Given the description of an element on the screen output the (x, y) to click on. 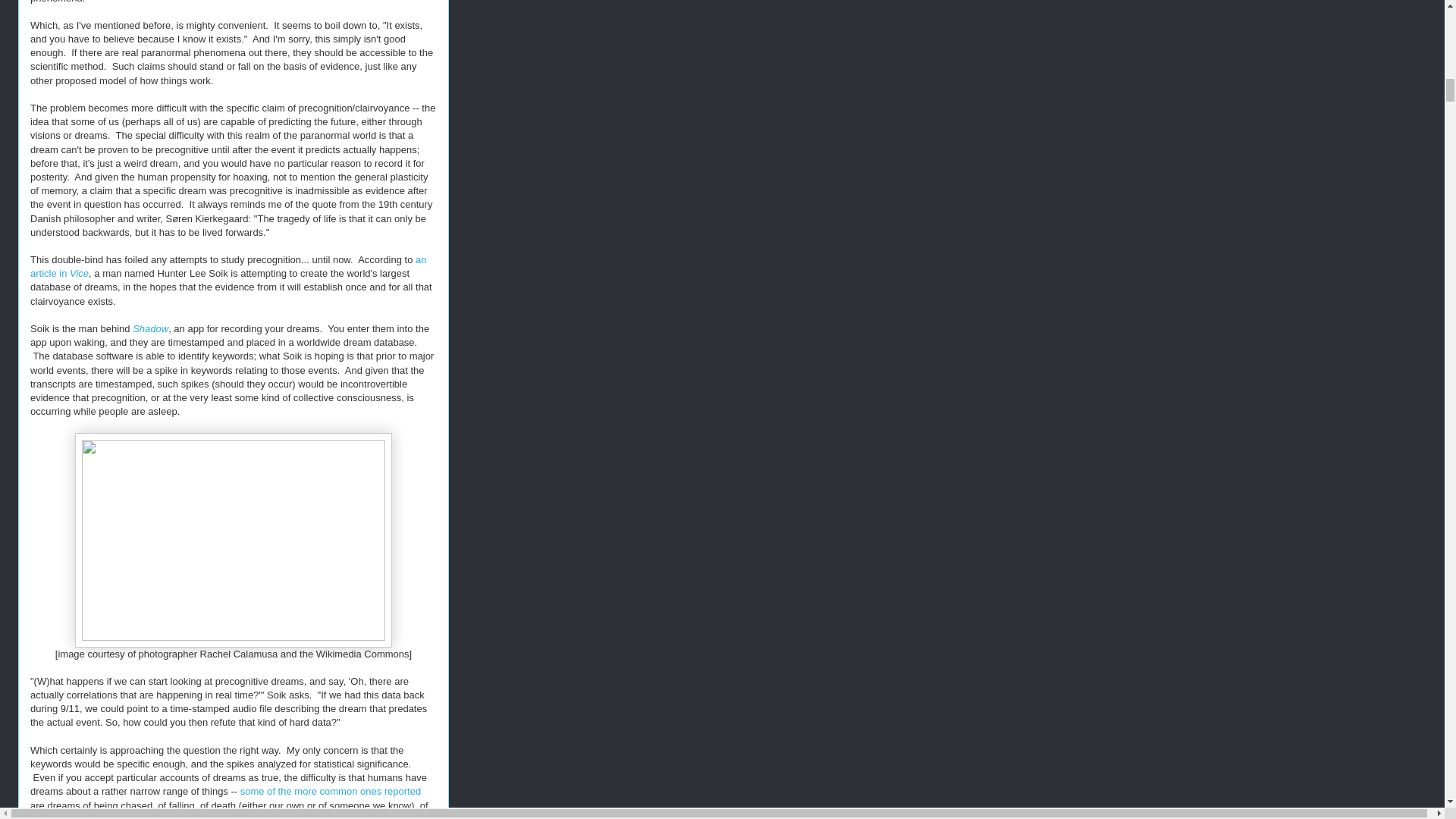
an article in Vice (228, 266)
Shadow (150, 328)
